Given the description of an element on the screen output the (x, y) to click on. 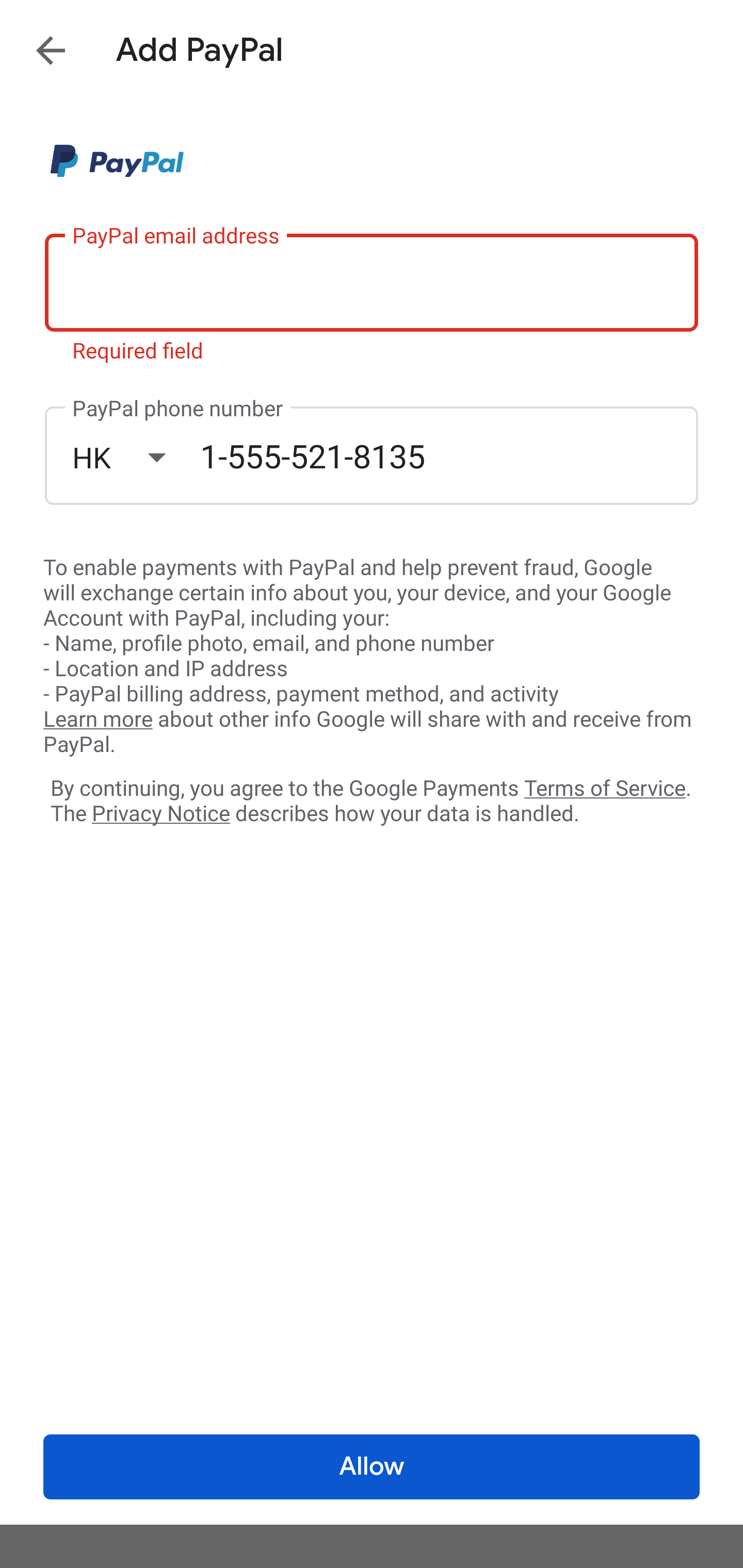
Navigate up (50, 50)
HK (135, 456)
Learn more (97, 719)
Terms of Service (604, 787)
Privacy Notice (160, 814)
Allow (371, 1466)
